Given the description of an element on the screen output the (x, y) to click on. 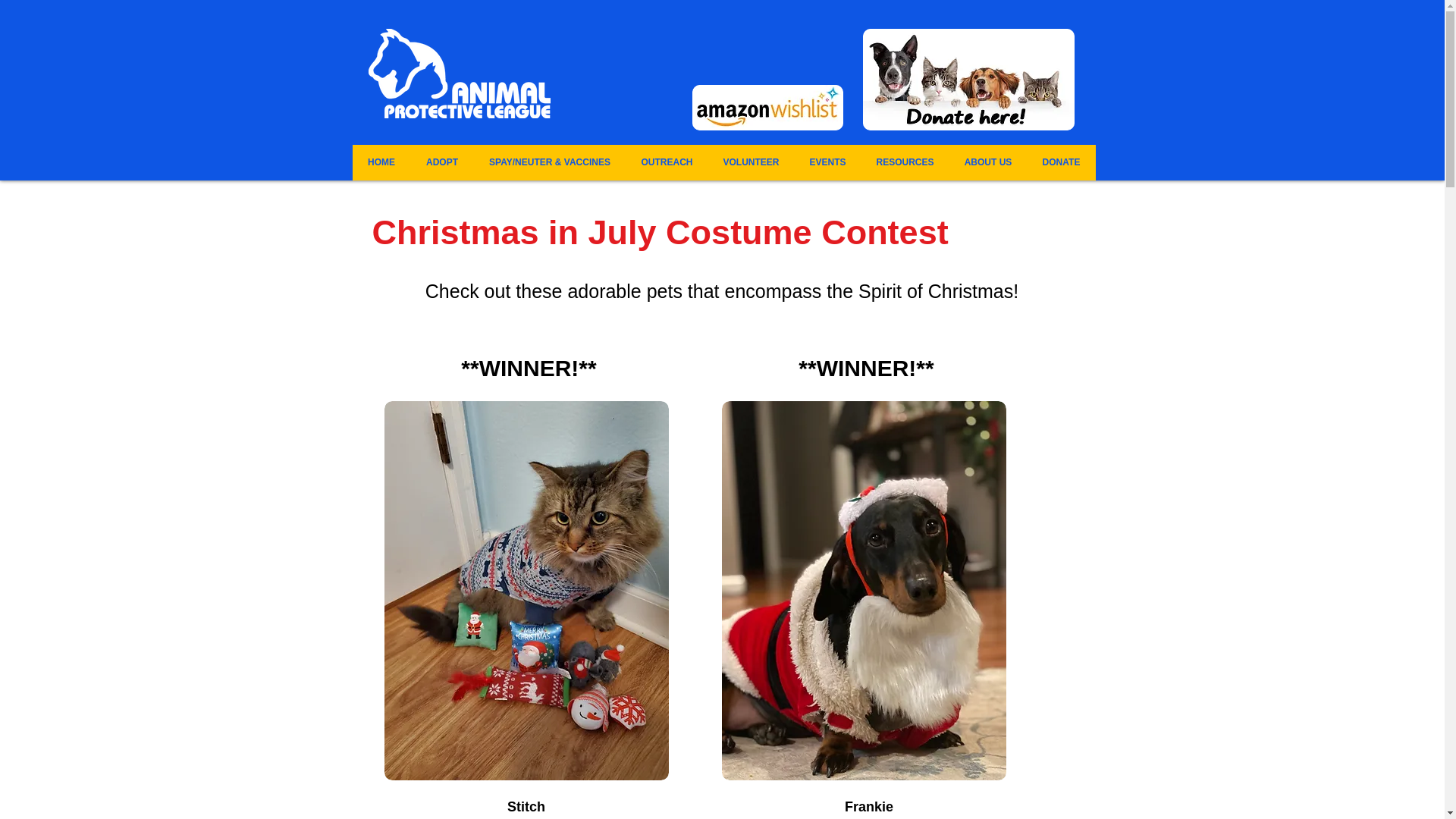
ADOPT (442, 162)
HOME (381, 162)
EVENTS (827, 162)
OUTREACH (666, 162)
ABOUT US (988, 162)
RESOURCES (905, 162)
VOLUNTEER (750, 162)
DONATE (1060, 162)
